Given the description of an element on the screen output the (x, y) to click on. 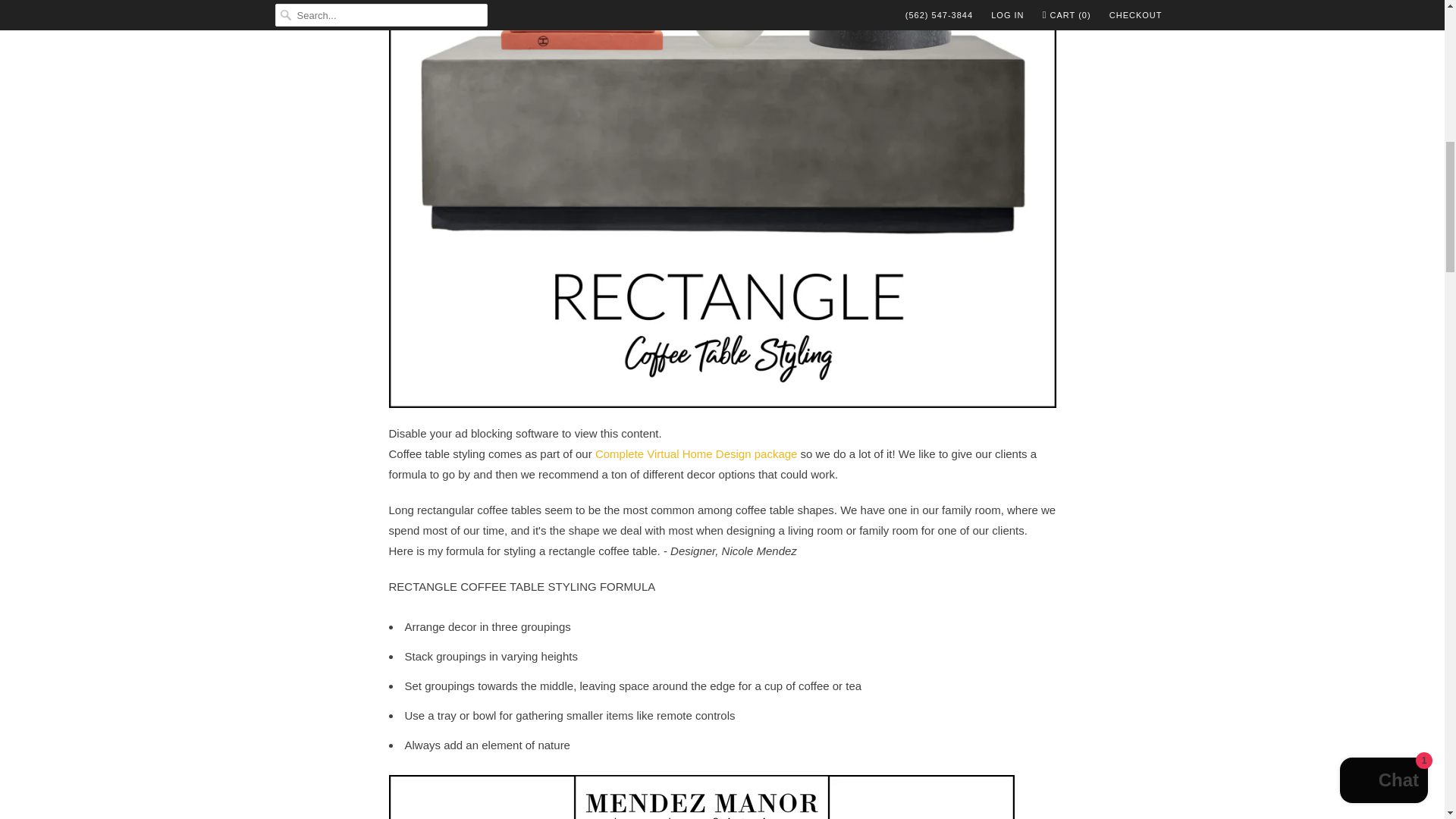
Complete Virtual Home Design package (696, 453)
Complete virtual home design package (696, 453)
